Given the description of an element on the screen output the (x, y) to click on. 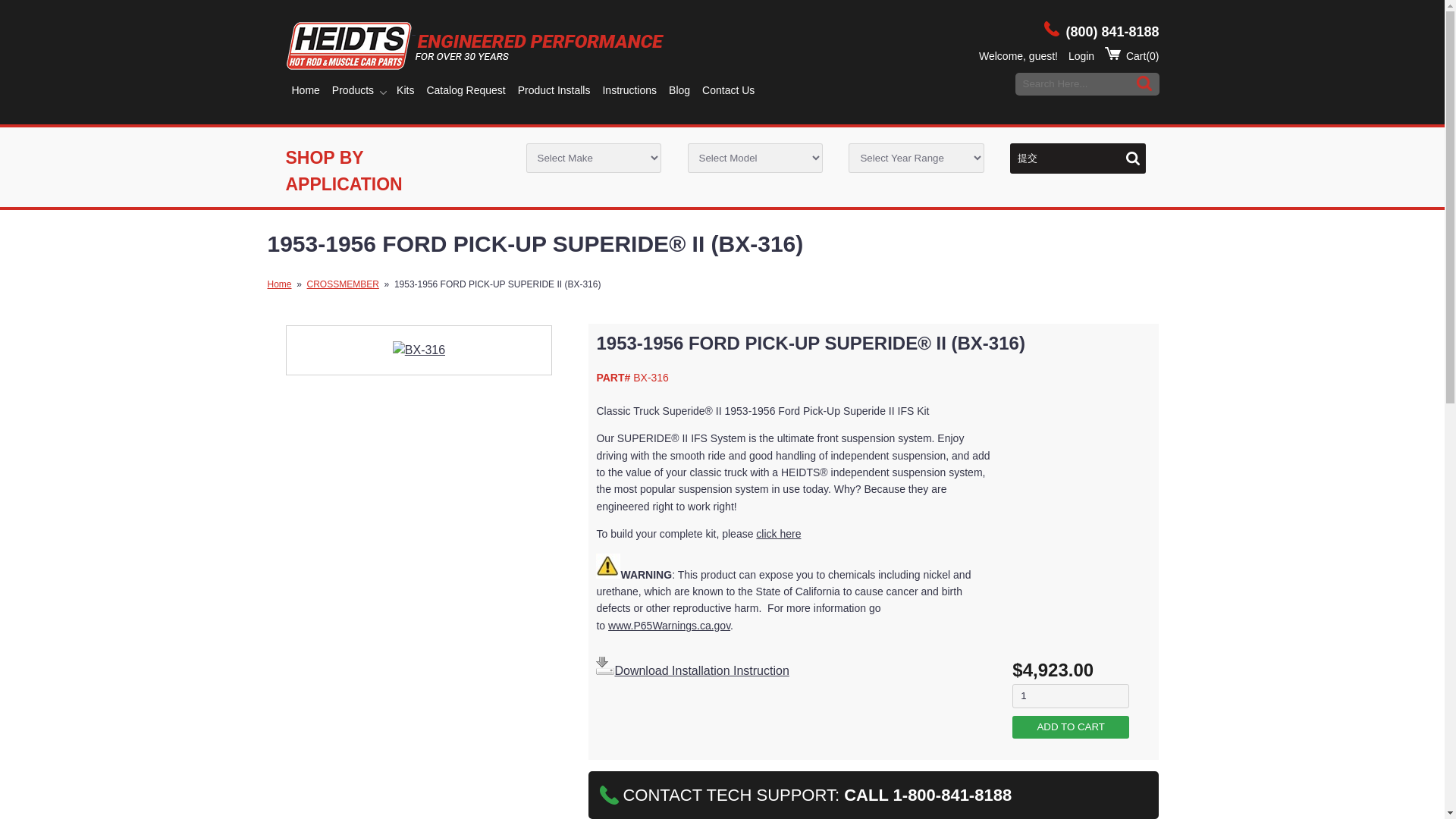
Products (353, 90)
Home (304, 90)
1 (1070, 695)
